Given the description of an element on the screen output the (x, y) to click on. 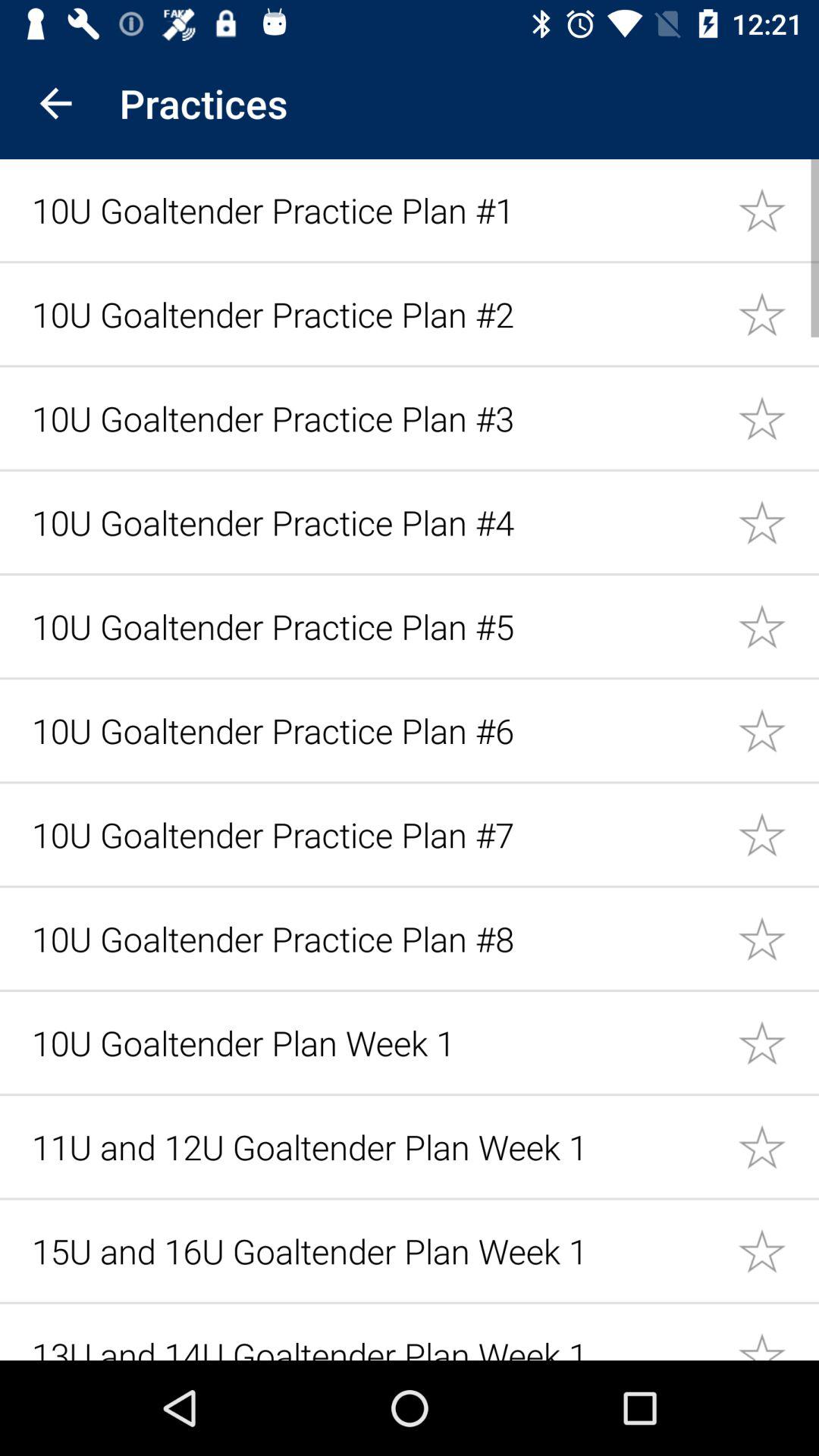
plan selection star (778, 938)
